Given the description of an element on the screen output the (x, y) to click on. 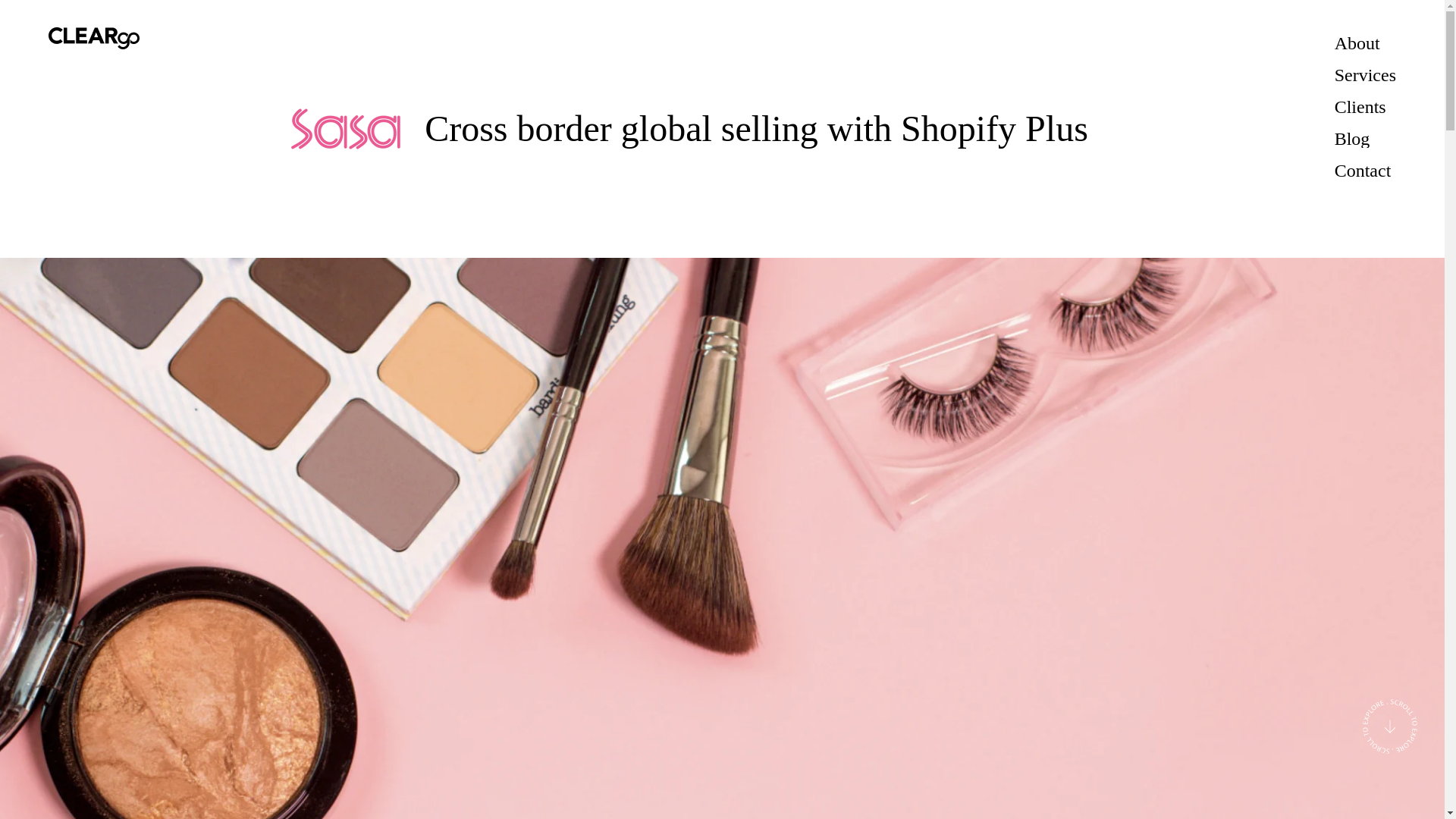
Services (1365, 74)
About (1365, 42)
Blog (1365, 138)
sasa-logo-white1-1-copy-1 (345, 128)
CLEARgo (93, 38)
Contact (1365, 169)
Clients (1365, 106)
